Given the description of an element on the screen output the (x, y) to click on. 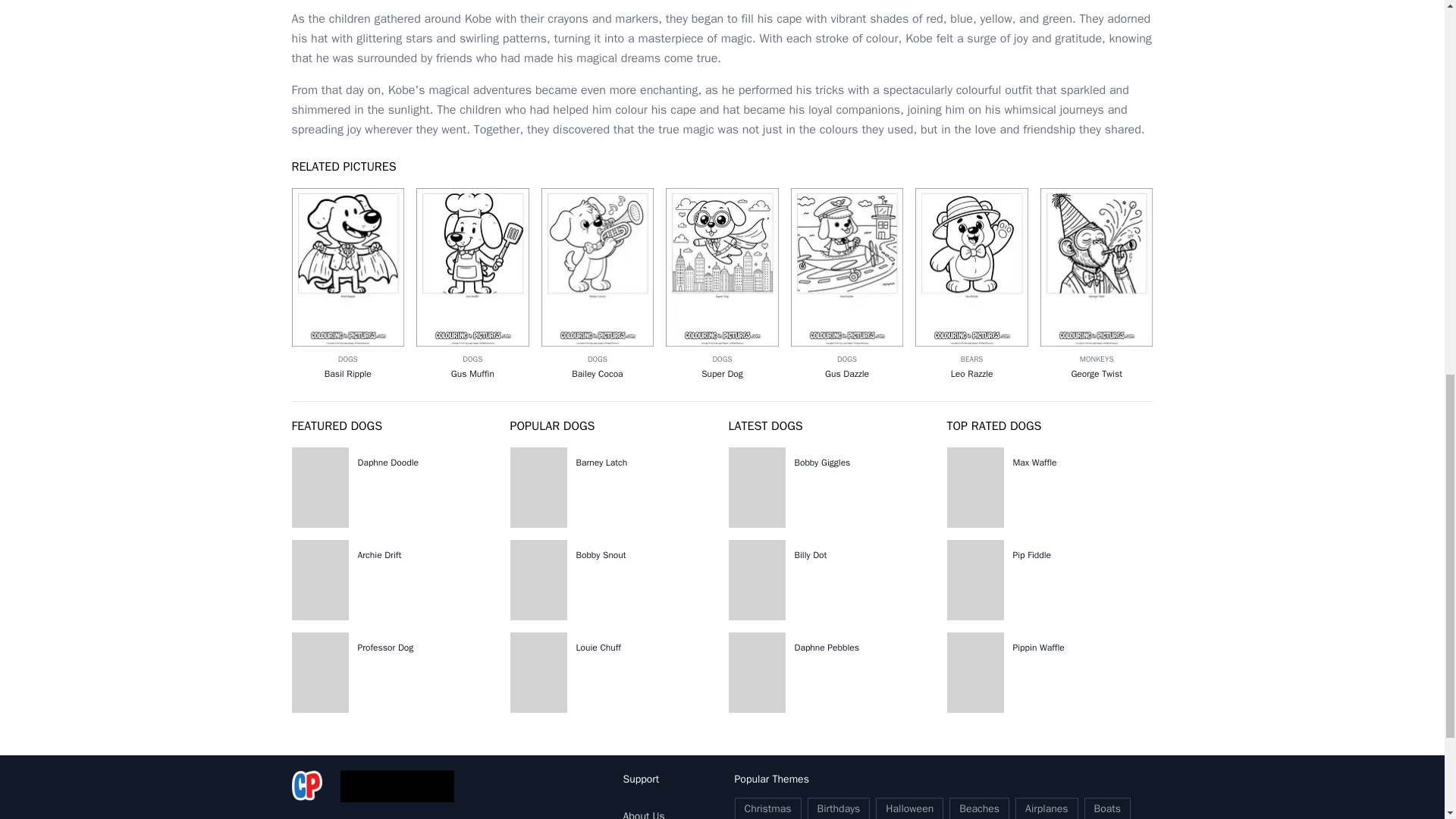
Home (306, 786)
Buy me a coffee (395, 786)
